Given the description of an element on the screen output the (x, y) to click on. 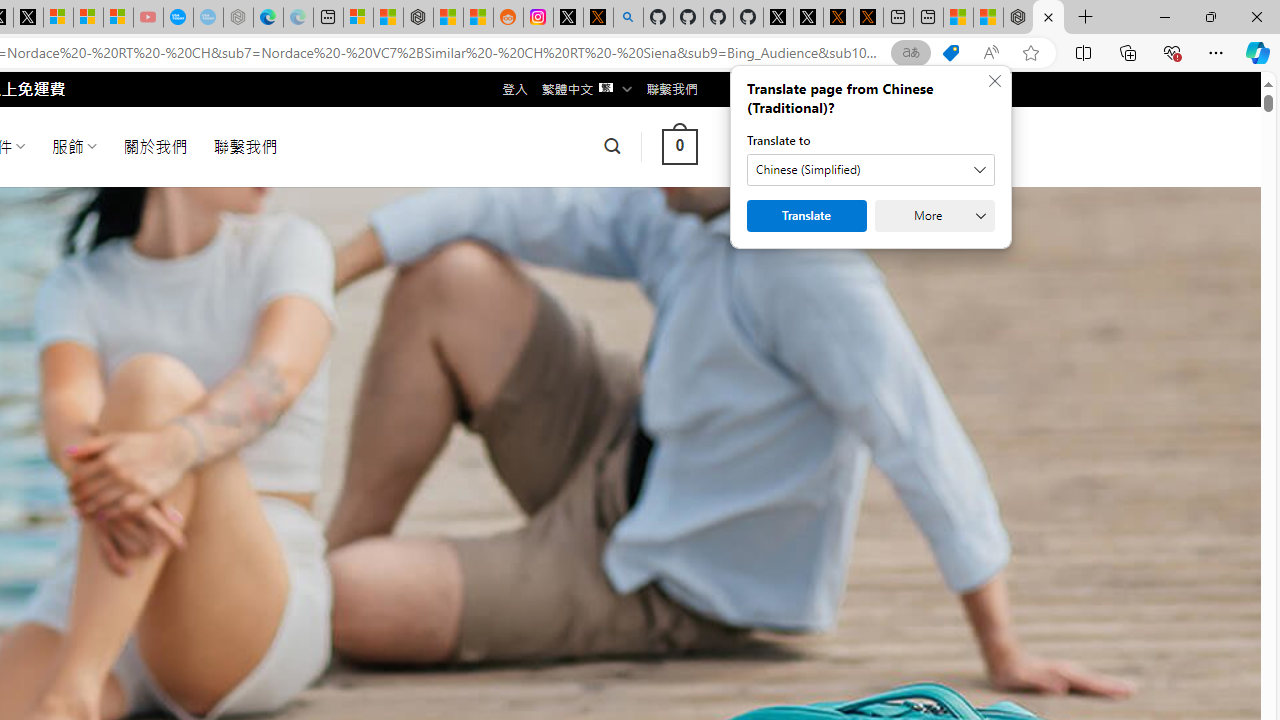
Translate (806, 215)
The most popular Google 'how to' searches - Sleeping (208, 17)
Gloom - YouTube - Sleeping (148, 17)
